Given the description of an element on the screen output the (x, y) to click on. 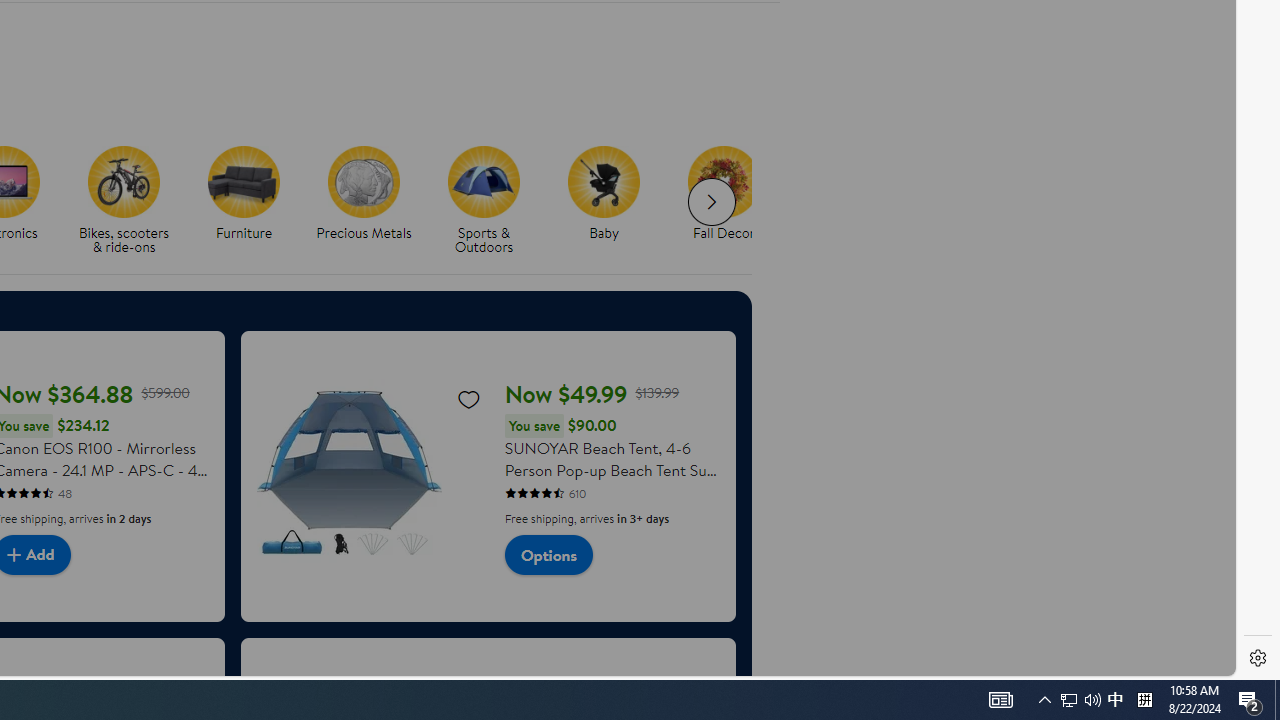
Furniture (243, 181)
Bikes, scooters & ride-ons (131, 200)
Fall Decor (724, 181)
Baby (611, 200)
Furniture Furniture (243, 194)
Bikes, scooters & ride-ons (124, 181)
Precious Metals (363, 181)
